Given the description of an element on the screen output the (x, y) to click on. 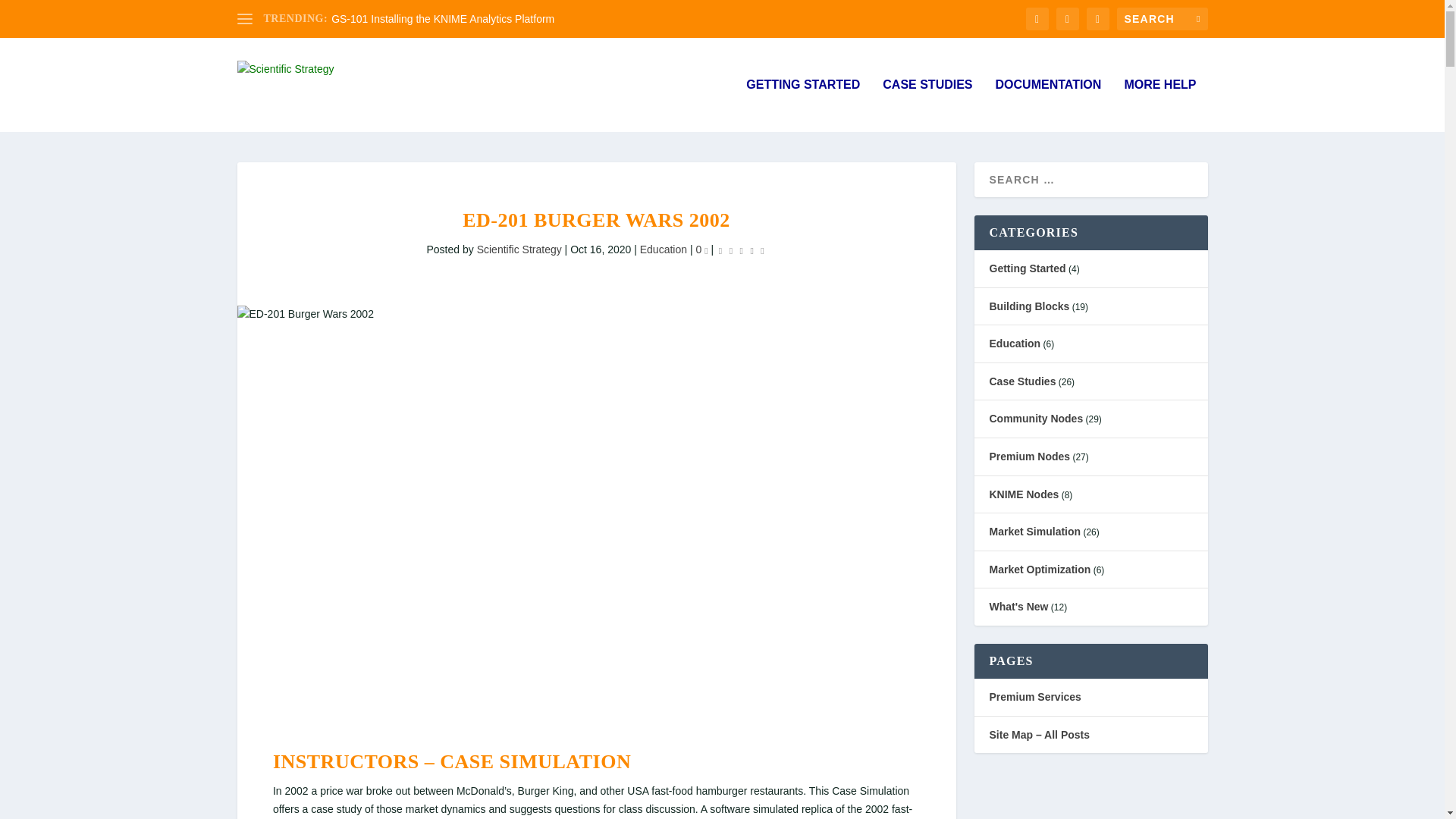
Rating: 0.00 (741, 250)
MORE HELP (1159, 104)
DOCUMENTATION (1048, 104)
CASE STUDIES (927, 104)
0 (701, 249)
GS-101 Installing the KNIME Analytics Platform (442, 19)
Posts by Scientific Strategy (519, 249)
Education (663, 249)
Search for: (1161, 18)
GETTING STARTED (802, 104)
